Given the description of an element on the screen output the (x, y) to click on. 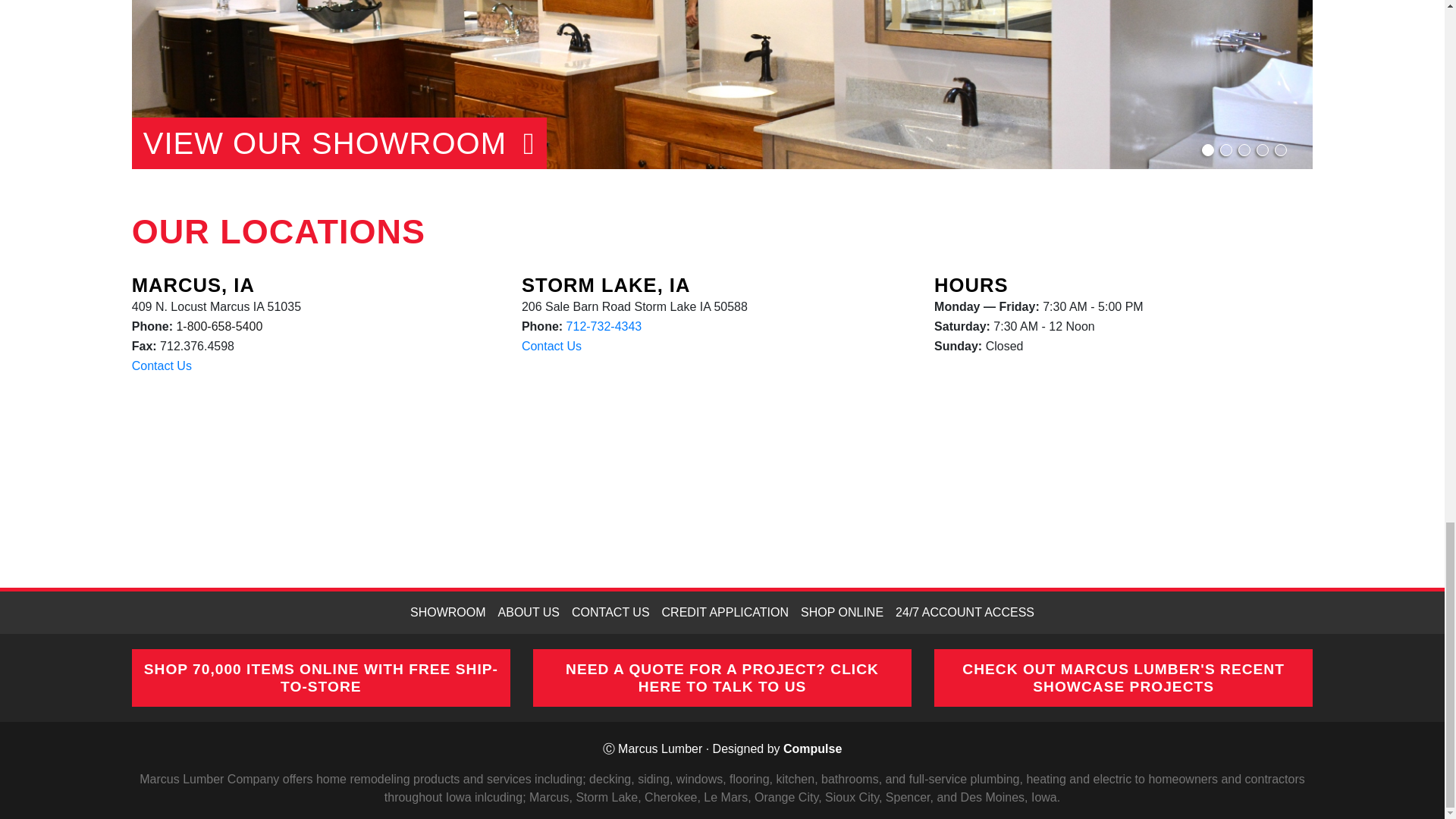
VIEW OUR SHOWROOM (338, 142)
Contact Us (550, 345)
SHOWROOM (448, 612)
1-800-658-5400 (219, 326)
CONTACT US (611, 612)
NEED A QUOTE FOR A PROJECT? CLICK HERE TO TALK TO US (722, 677)
CREDIT APPLICATION (725, 612)
Contact Us (162, 365)
ABOUT US (529, 612)
SHOP ONLINE (841, 612)
SHOP 70,000 ITEMS ONLINE WITH FREE SHIP-TO-STORE (320, 677)
712-732-4343 (604, 326)
